Given the description of an element on the screen output the (x, y) to click on. 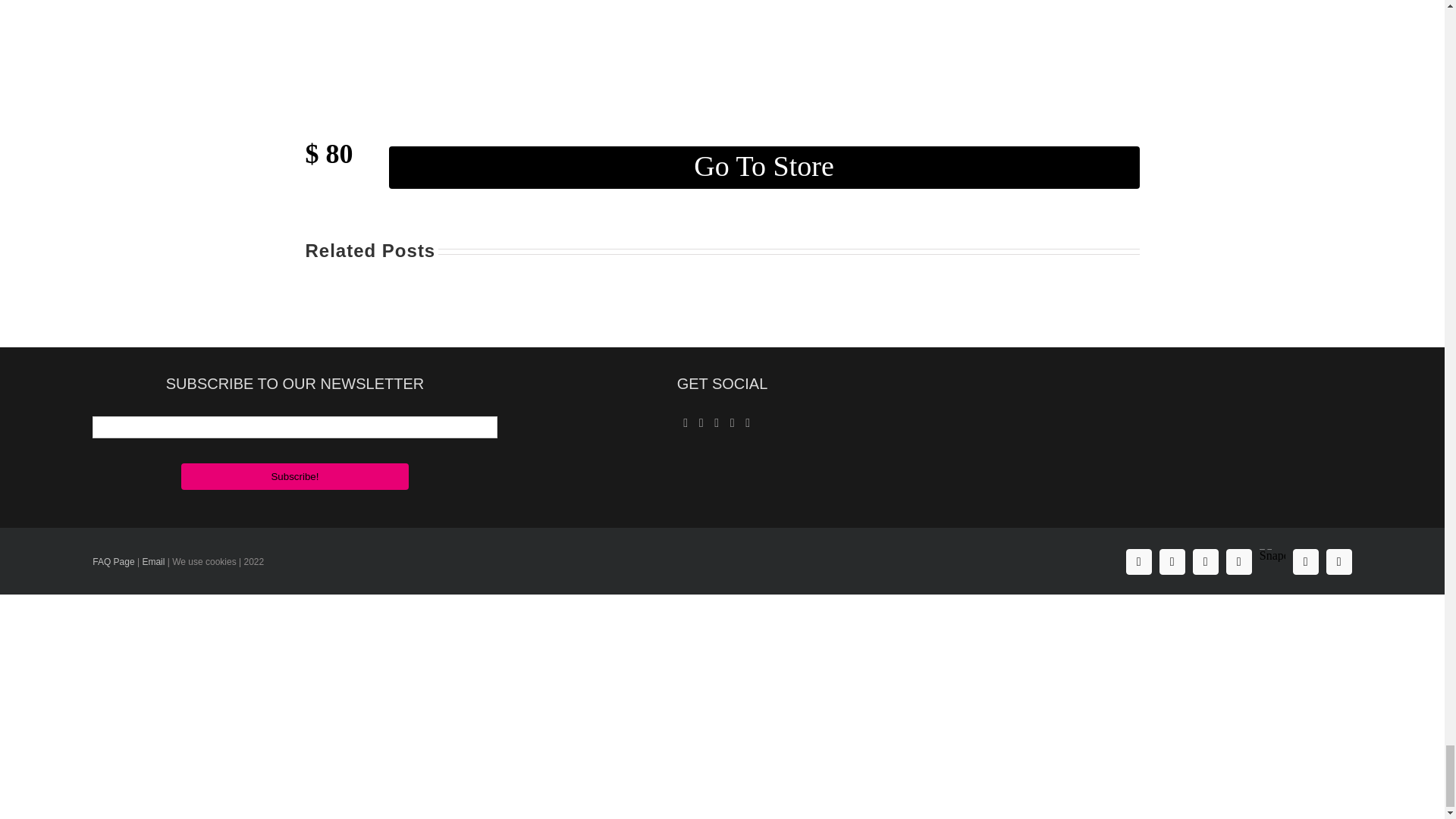
Snapchat (1272, 549)
Facebook (1138, 561)
Snapchat (1272, 549)
FAQ Page (113, 561)
Pinterest (1238, 561)
Vk (1305, 561)
Twitter (1205, 561)
Instagram (1171, 561)
Email (152, 561)
Facebook (1138, 561)
